Given the description of an element on the screen output the (x, y) to click on. 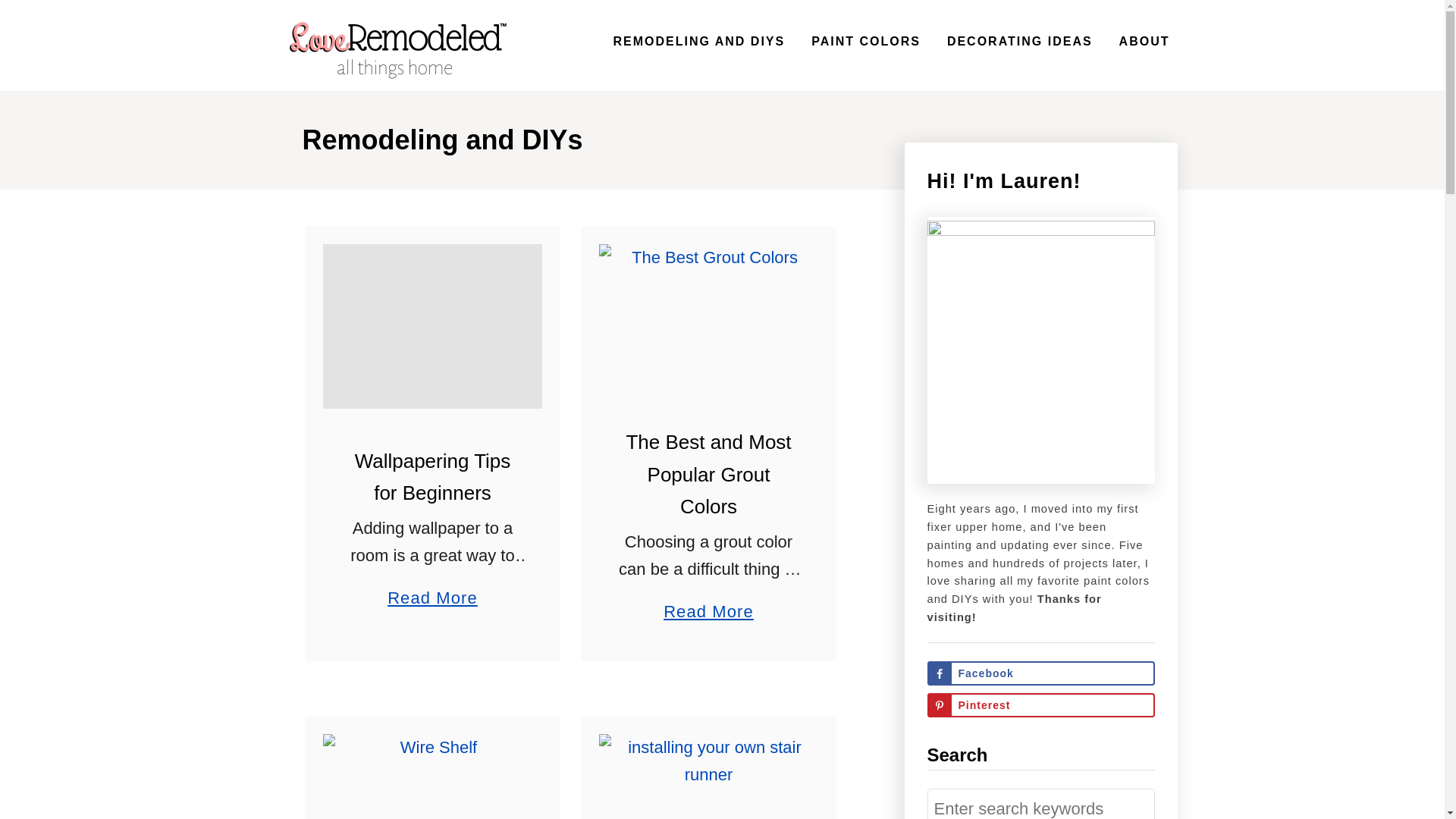
Wallpapering Tips for Beginners (432, 590)
Wallpapering Tips for Beginners (432, 326)
DECORATING IDEAS (433, 476)
Follow on Pinterest (708, 604)
REMODELING AND DIYS (1019, 41)
Follow on Facebook (1040, 704)
Search for: (698, 41)
ABOUT (1040, 672)
The Best and Most Popular Grout Colors (1040, 803)
Love Remodeled (1144, 41)
The Best Wire Shelf (708, 473)
PAINT COLORS (395, 45)
The Best and Most Popular Grout Colors (432, 776)
